Given the description of an element on the screen output the (x, y) to click on. 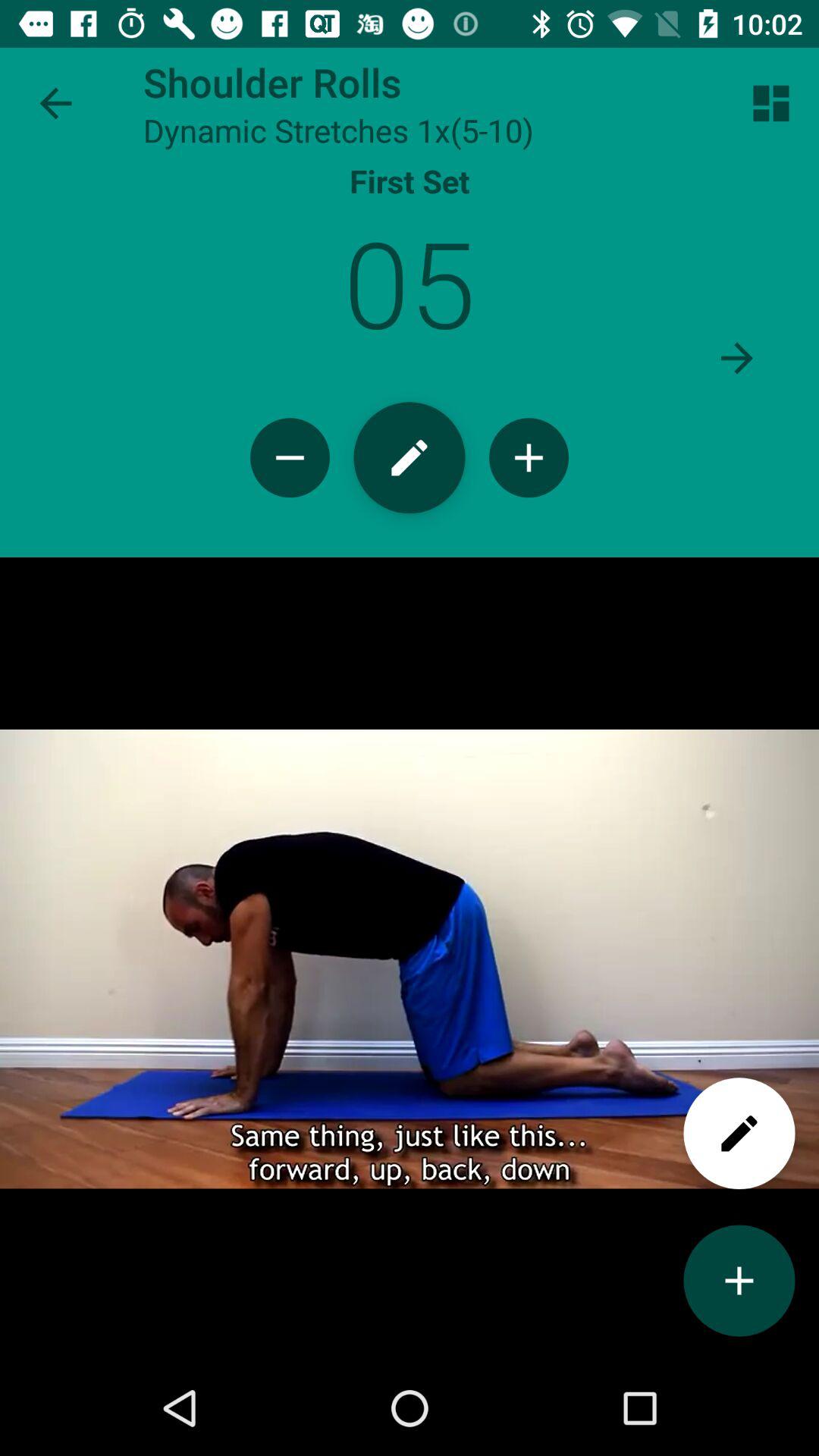
go to increase (739, 1280)
